Given the description of an element on the screen output the (x, y) to click on. 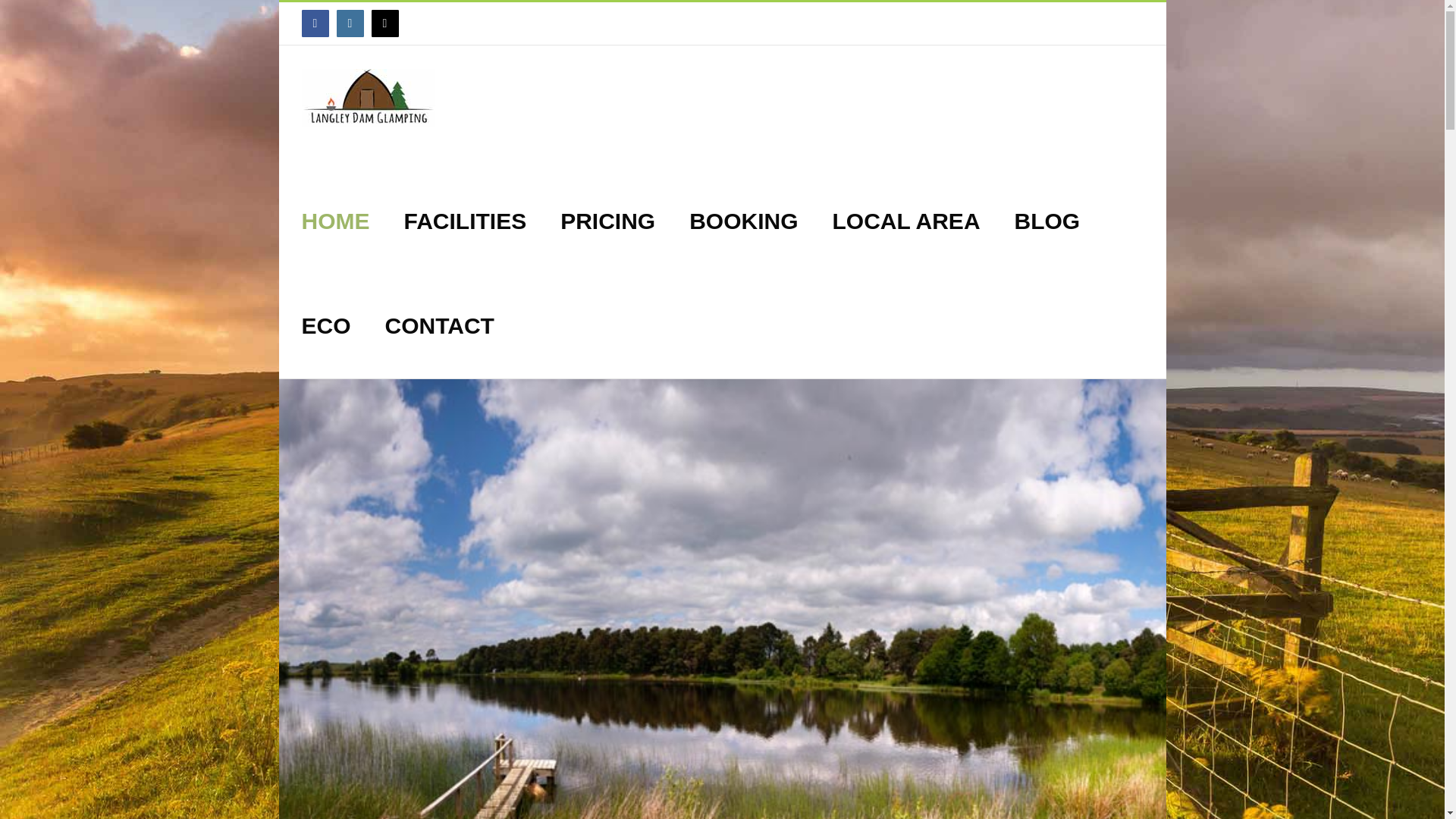
CONTACT (440, 325)
Facebook (315, 22)
Instagram (350, 22)
X (384, 22)
FACILITIES (464, 220)
LOCAL AREA (905, 220)
PRICING (607, 220)
BOOKING (742, 220)
